Given the description of an element on the screen output the (x, y) to click on. 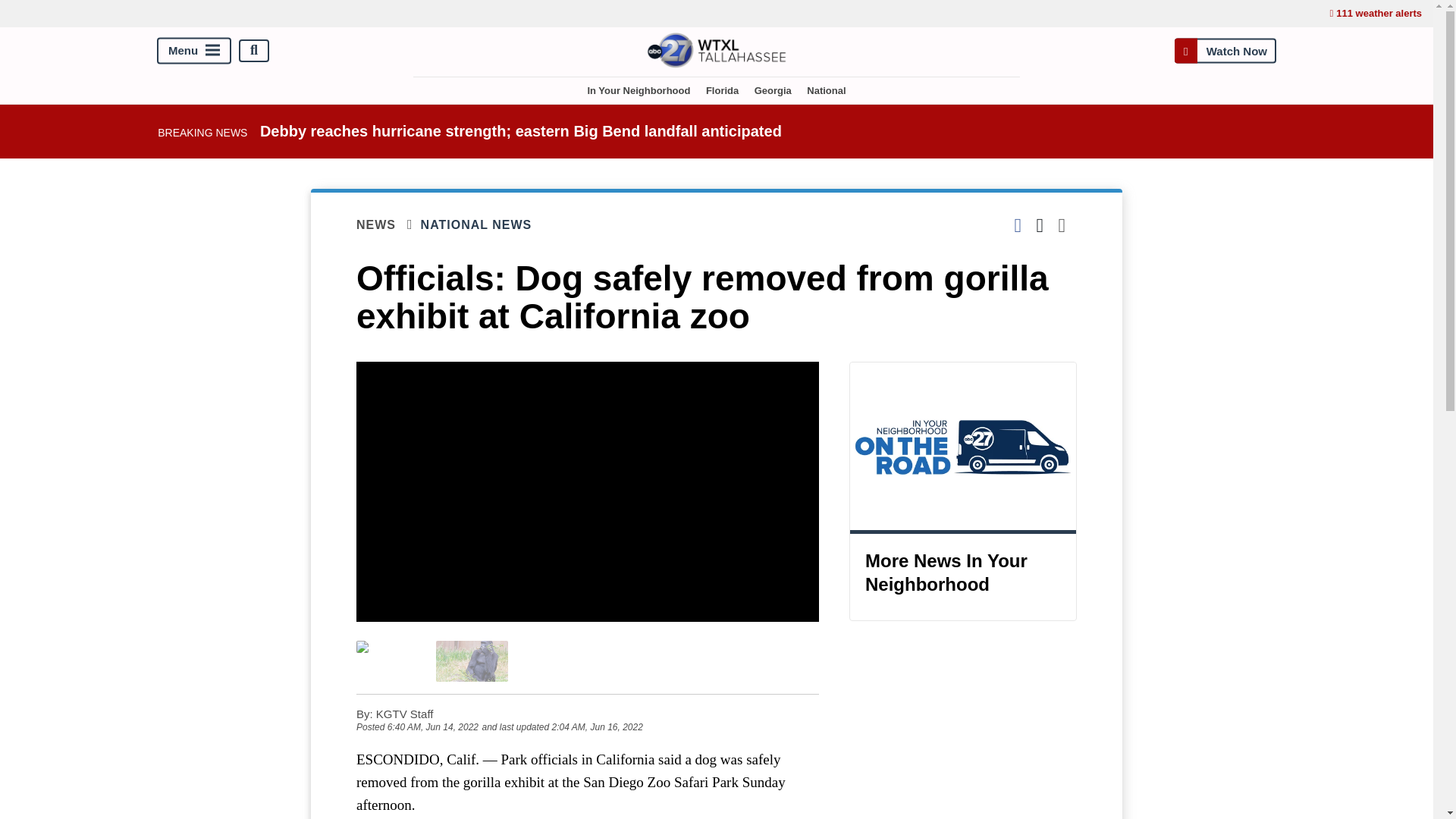
Watch Now (1224, 50)
Menu (194, 49)
